Given the description of an element on the screen output the (x, y) to click on. 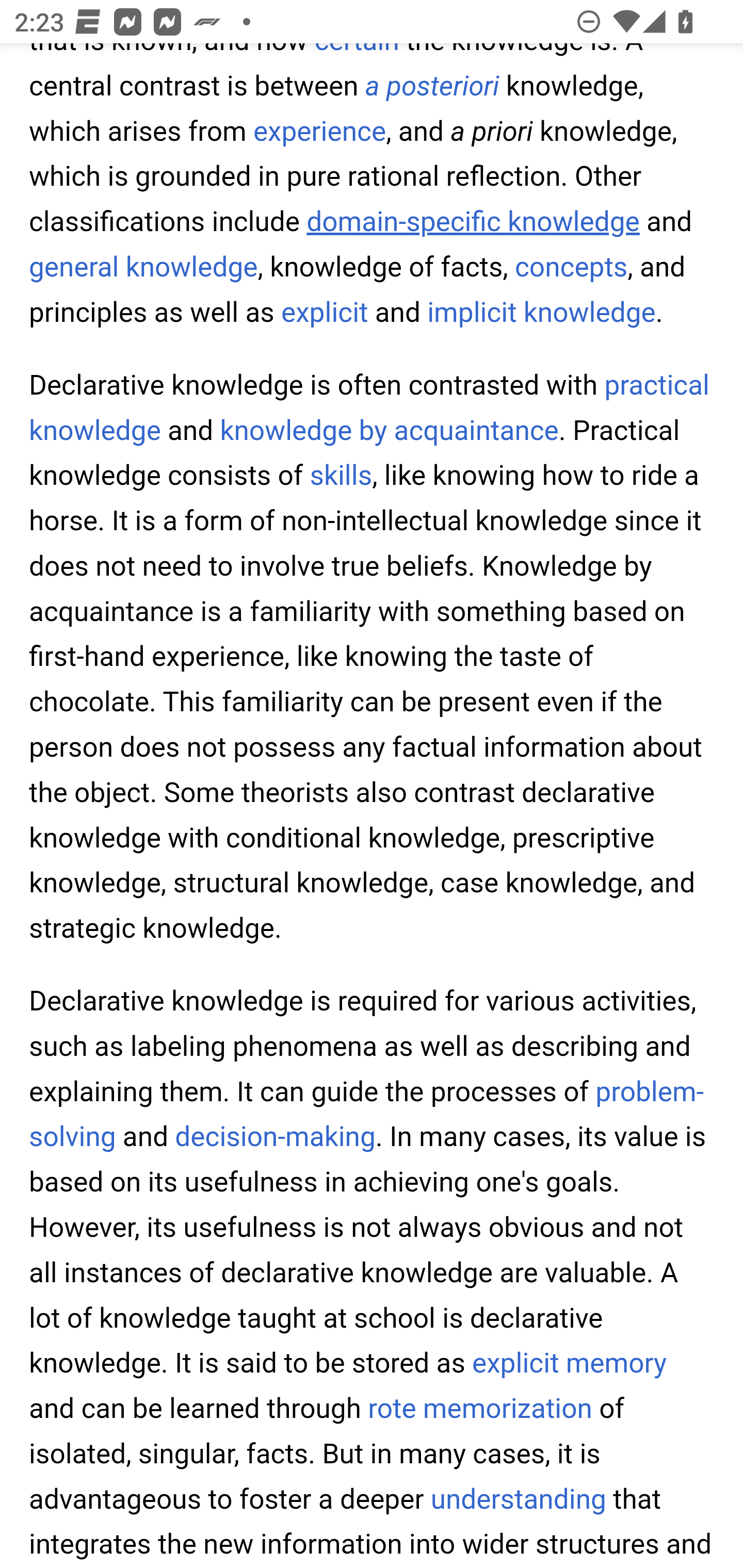
a posteriori (432, 87)
experience (319, 132)
domain-specific knowledge (472, 222)
general knowledge (142, 267)
concepts (571, 267)
explicit (324, 313)
implicit knowledge (541, 313)
practical knowledge (369, 410)
skills (340, 476)
problem-solving (366, 1115)
explicit memory (569, 1364)
rote memorization (479, 1410)
understanding (518, 1500)
